Given the description of an element on the screen output the (x, y) to click on. 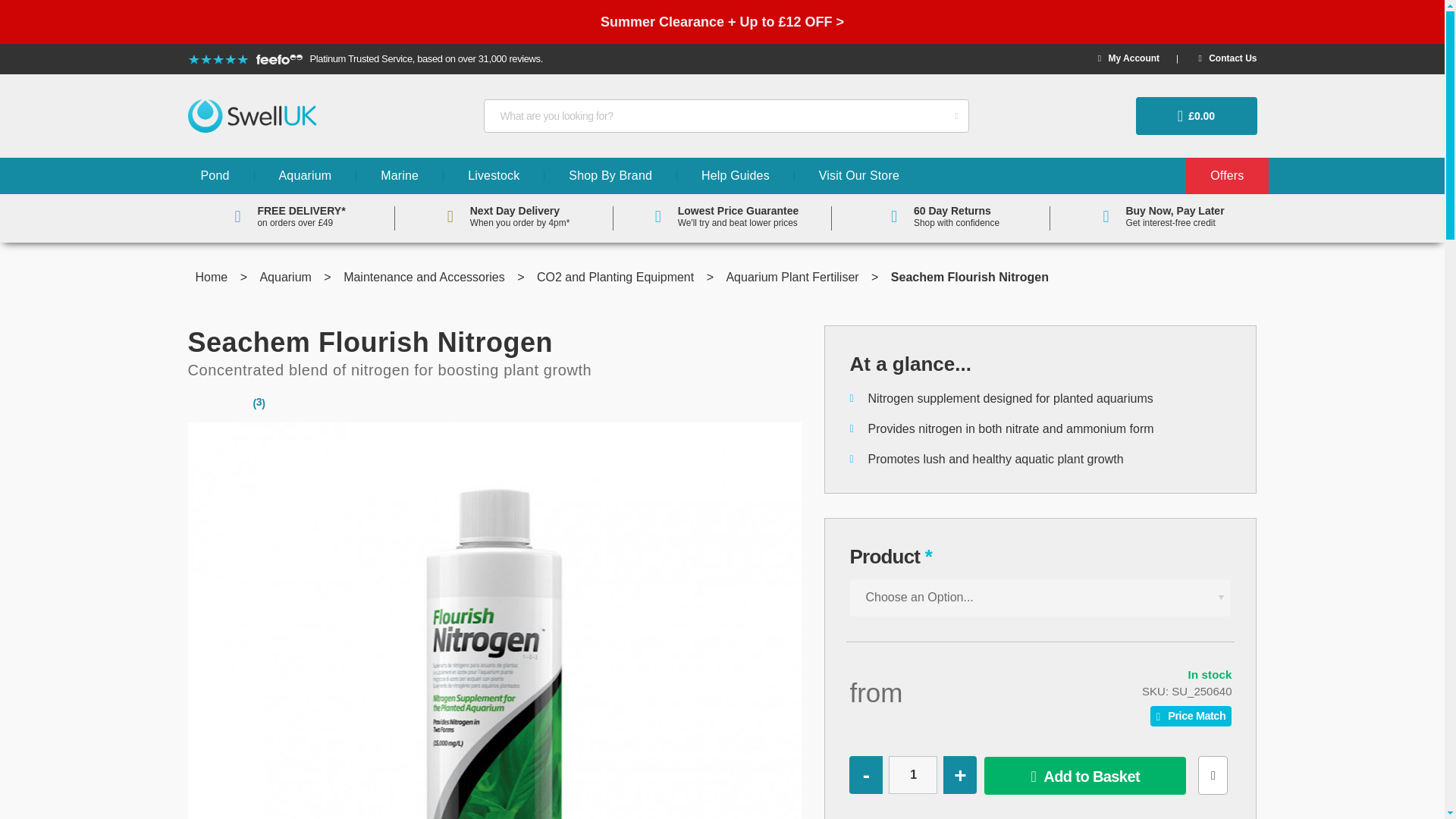
Pond (214, 176)
My Account (1127, 58)
Qty (912, 774)
Add to Basket (1085, 775)
Contact Us (1227, 58)
Availability (1078, 674)
Go to Home Page (213, 277)
1 (912, 774)
